Given the description of an element on the screen output the (x, y) to click on. 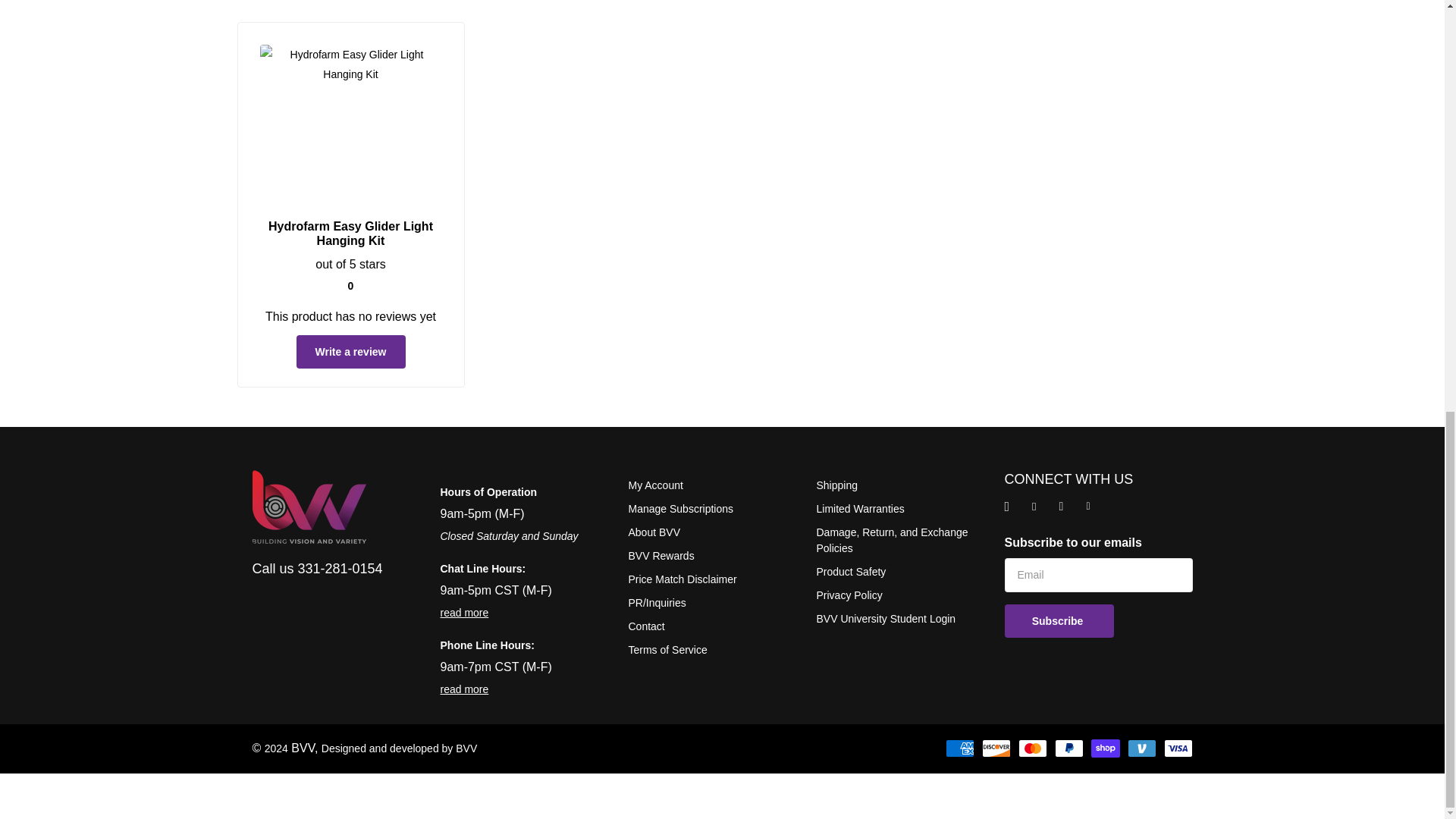
Venmo (1141, 748)
American Express (959, 748)
Mastercard (1031, 748)
Visa (1177, 748)
Discover (995, 748)
Shop Pay (1104, 748)
PayPal (1068, 748)
